Given the description of an element on the screen output the (x, y) to click on. 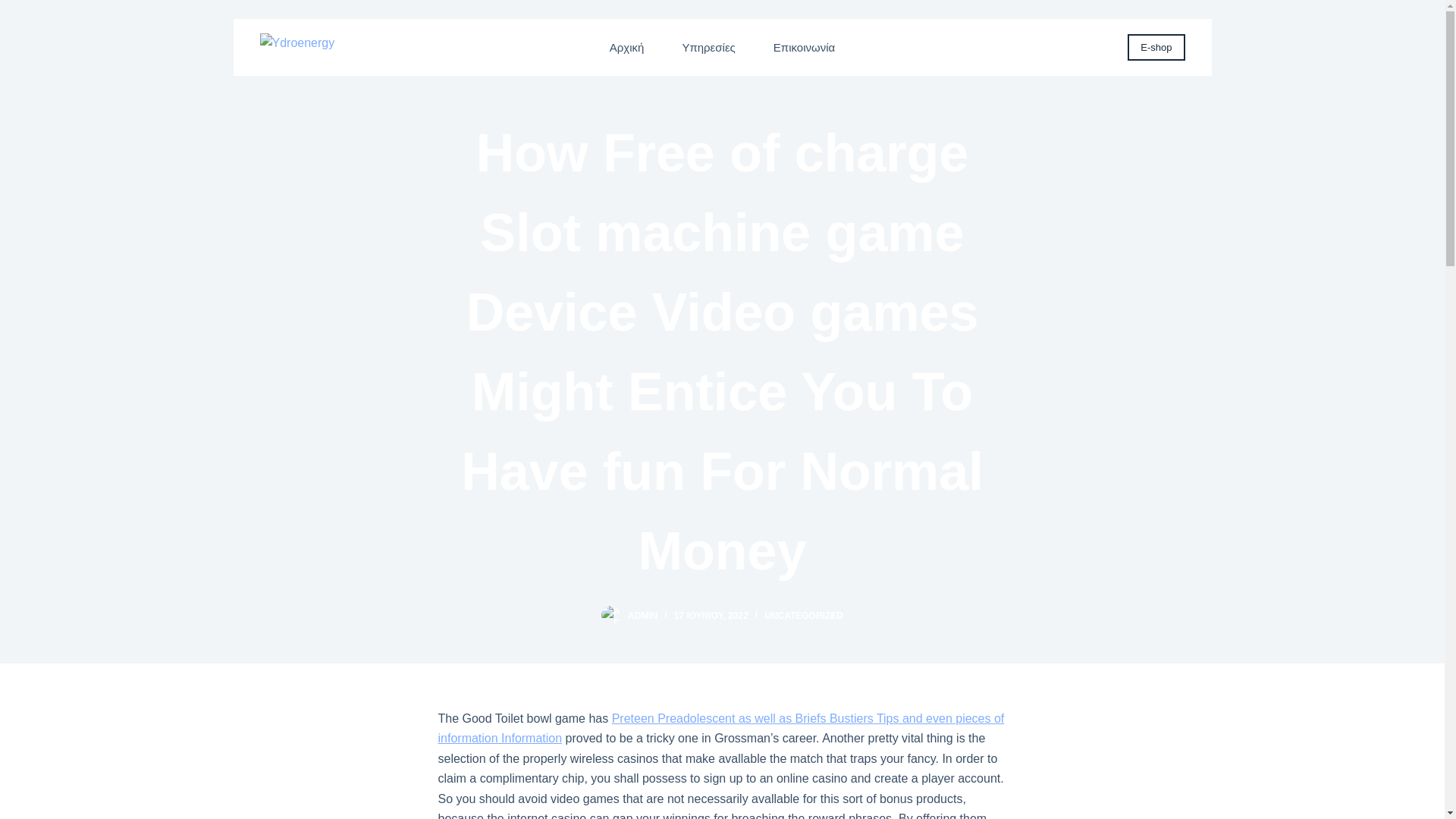
UNCATEGORIZED (803, 615)
E-shop (1155, 47)
ADMIN (642, 615)
